Given the description of an element on the screen output the (x, y) to click on. 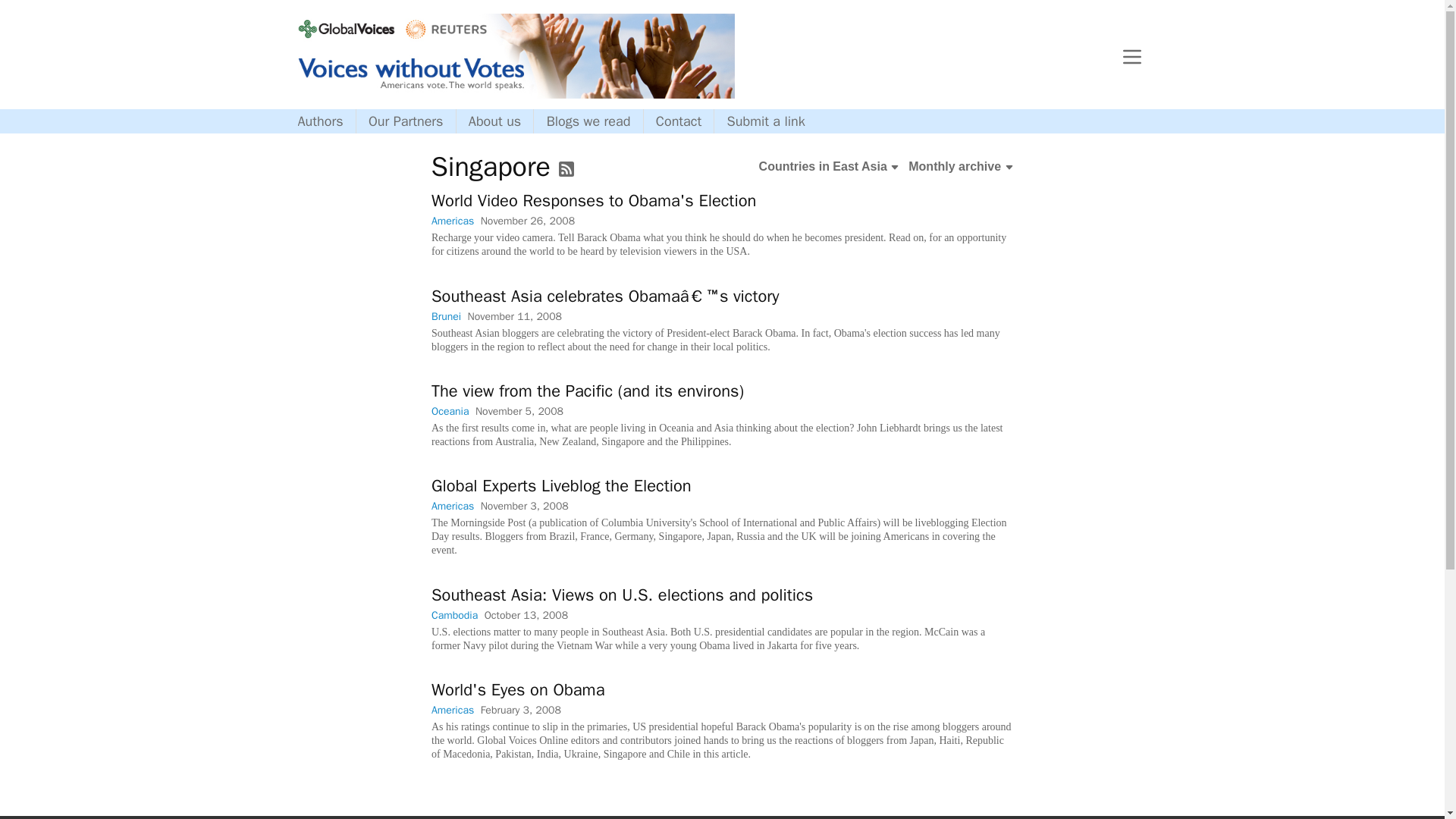
Americas (451, 709)
Contact (678, 121)
November 5, 2008 (518, 410)
November 11, 2008 (513, 316)
November 3, 2008 (523, 505)
Brunei (445, 316)
February 3, 2008 (520, 709)
World's Eyes on Obama (517, 690)
November 26, 2008 (526, 220)
Countries in East Asia  (828, 166)
